Given the description of an element on the screen output the (x, y) to click on. 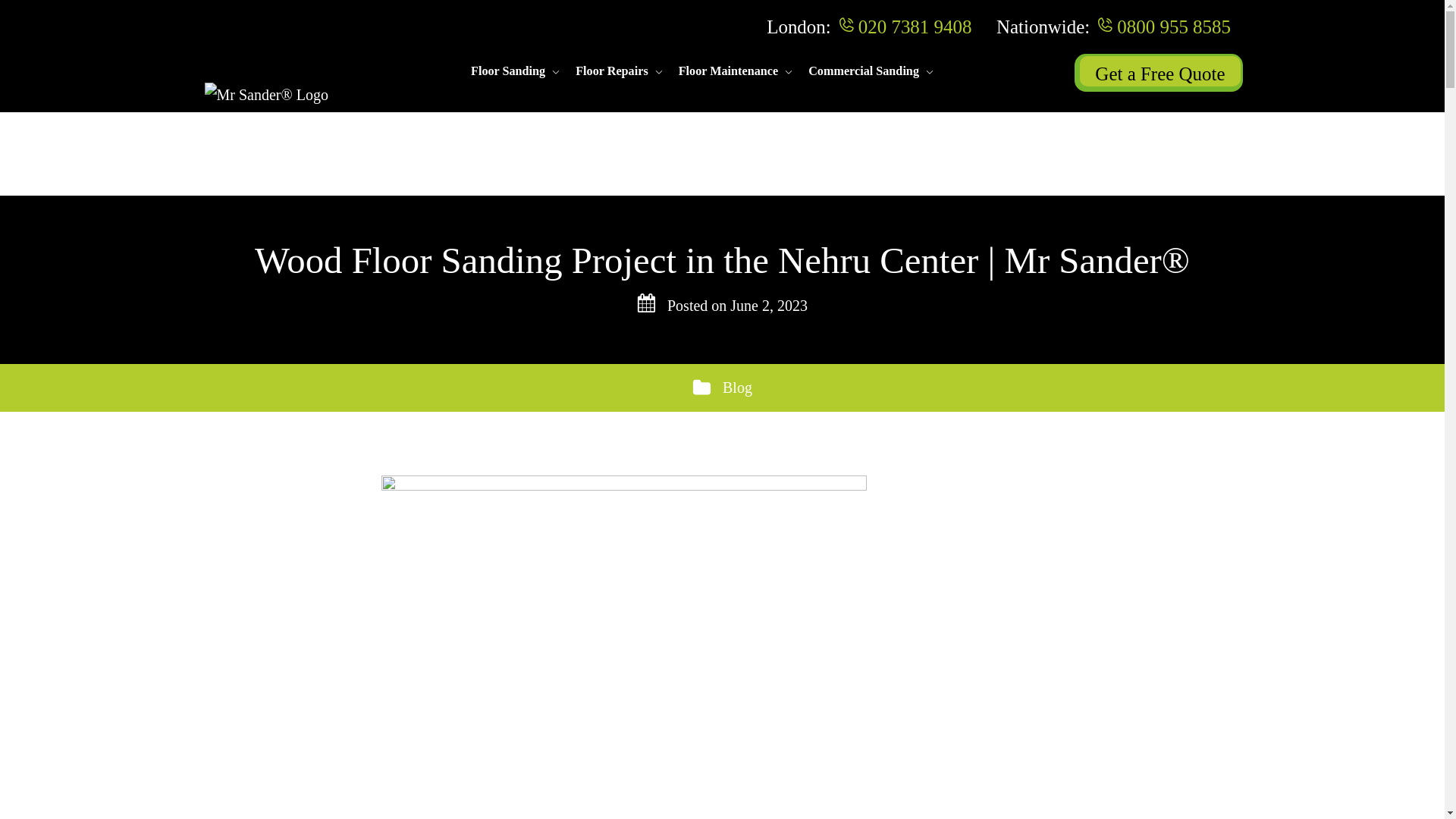
0800 955 8585 (1173, 26)
Floor Maintenance (727, 71)
Floor Repairs (611, 71)
020 7381 9408 (915, 26)
Floor Sanding (507, 71)
